Given the description of an element on the screen output the (x, y) to click on. 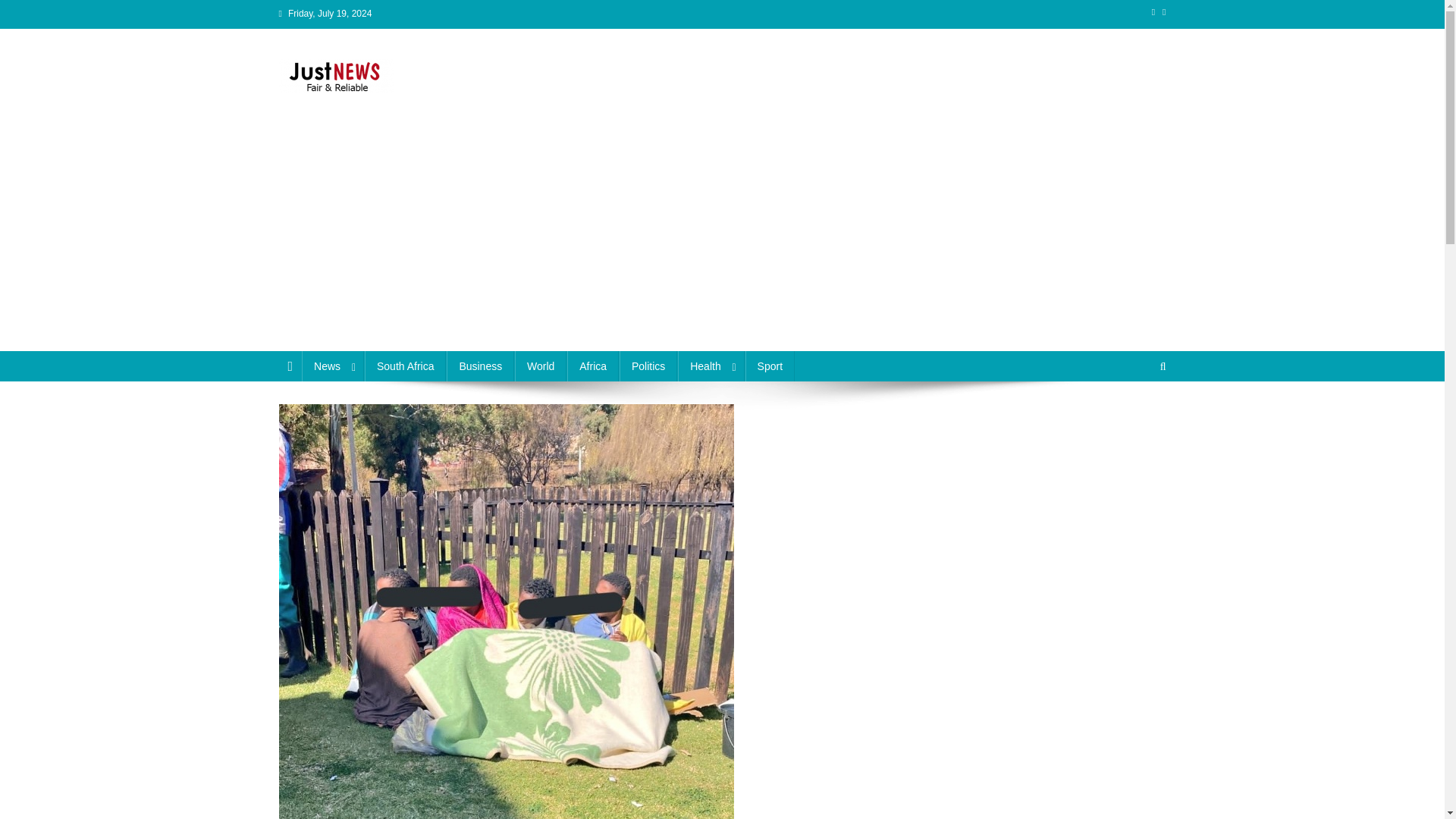
World (540, 366)
South Africa (405, 366)
Search (1133, 416)
Africa (592, 366)
Sport (769, 366)
Just News (338, 108)
Politics (648, 366)
News (332, 366)
Business (479, 366)
Health (711, 366)
